Given the description of an element on the screen output the (x, y) to click on. 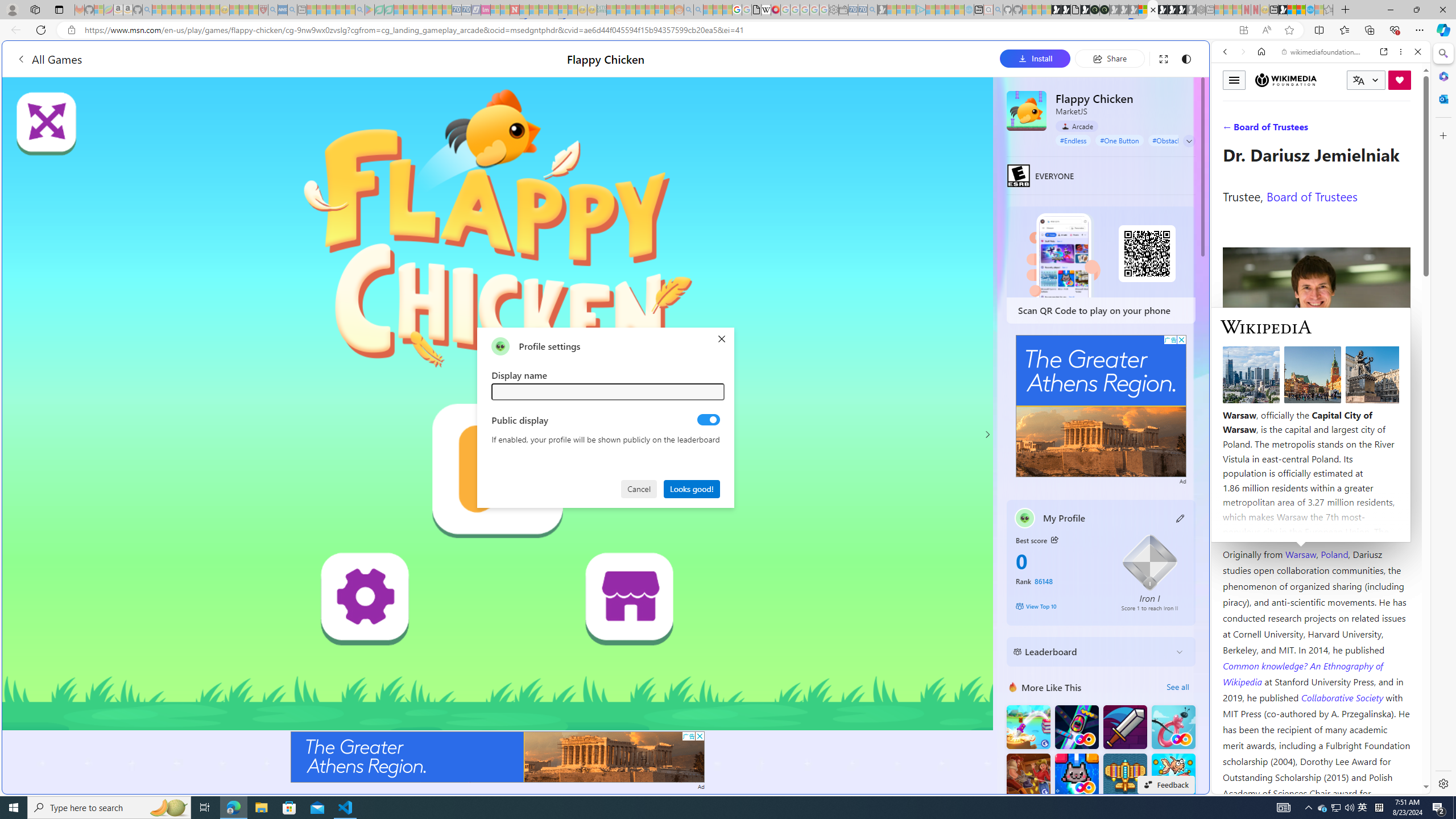
SEARCH TOOLS (1350, 130)
google_privacy_policy_zh-CN.pdf (755, 9)
Home | Sky Blue Bikes - Sky Blue Bikes (1118, 242)
Open link in new tab (1383, 51)
Recipes - MSN - Sleeping (234, 9)
AutomationID: cbb (1181, 339)
Kozminski University (1316, 486)
Earth has six continents not seven, radical new study claims (1300, 9)
